Given the description of an element on the screen output the (x, y) to click on. 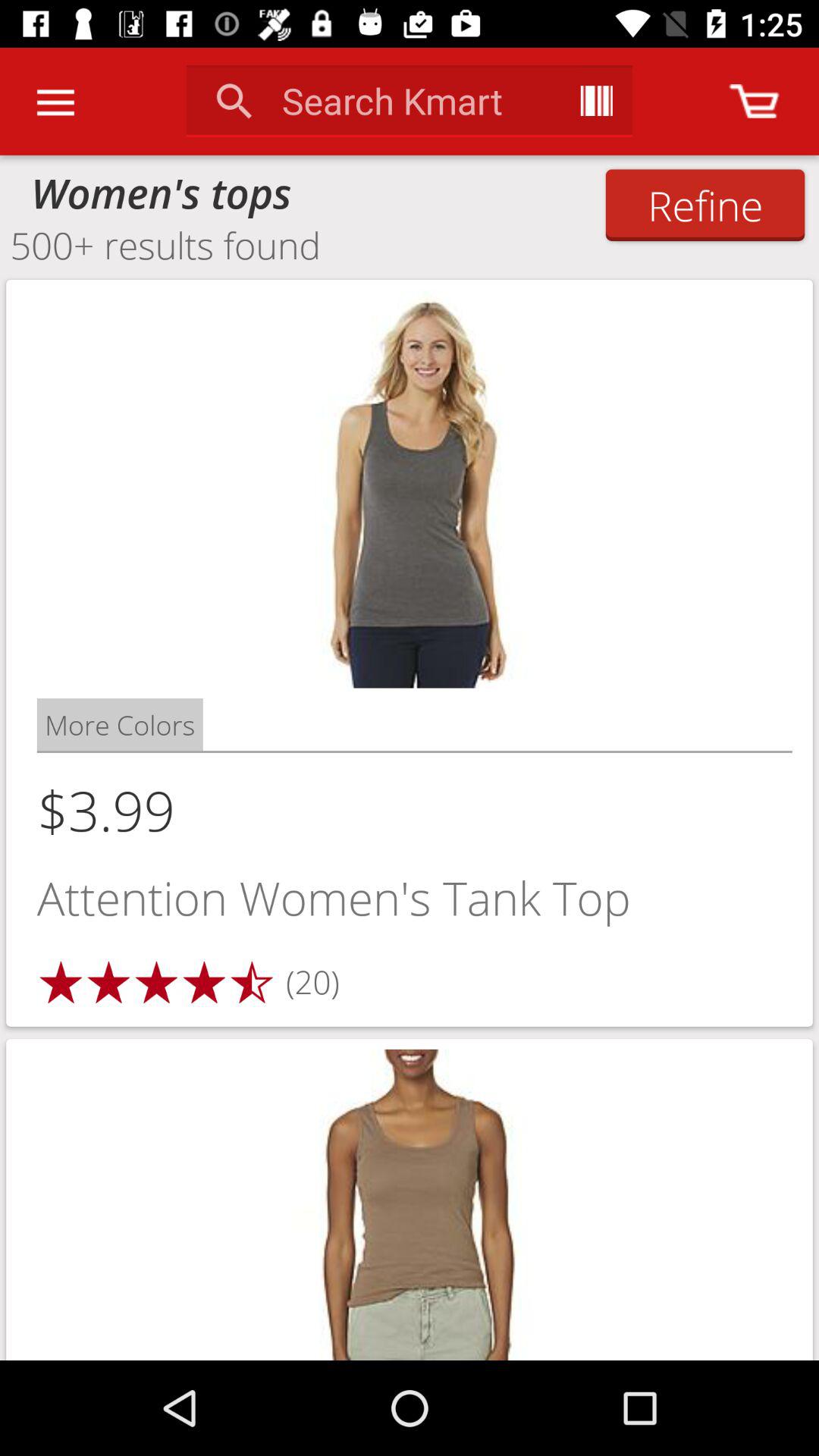
launch the icon above  women's tops item (55, 102)
